Given the description of an element on the screen output the (x, y) to click on. 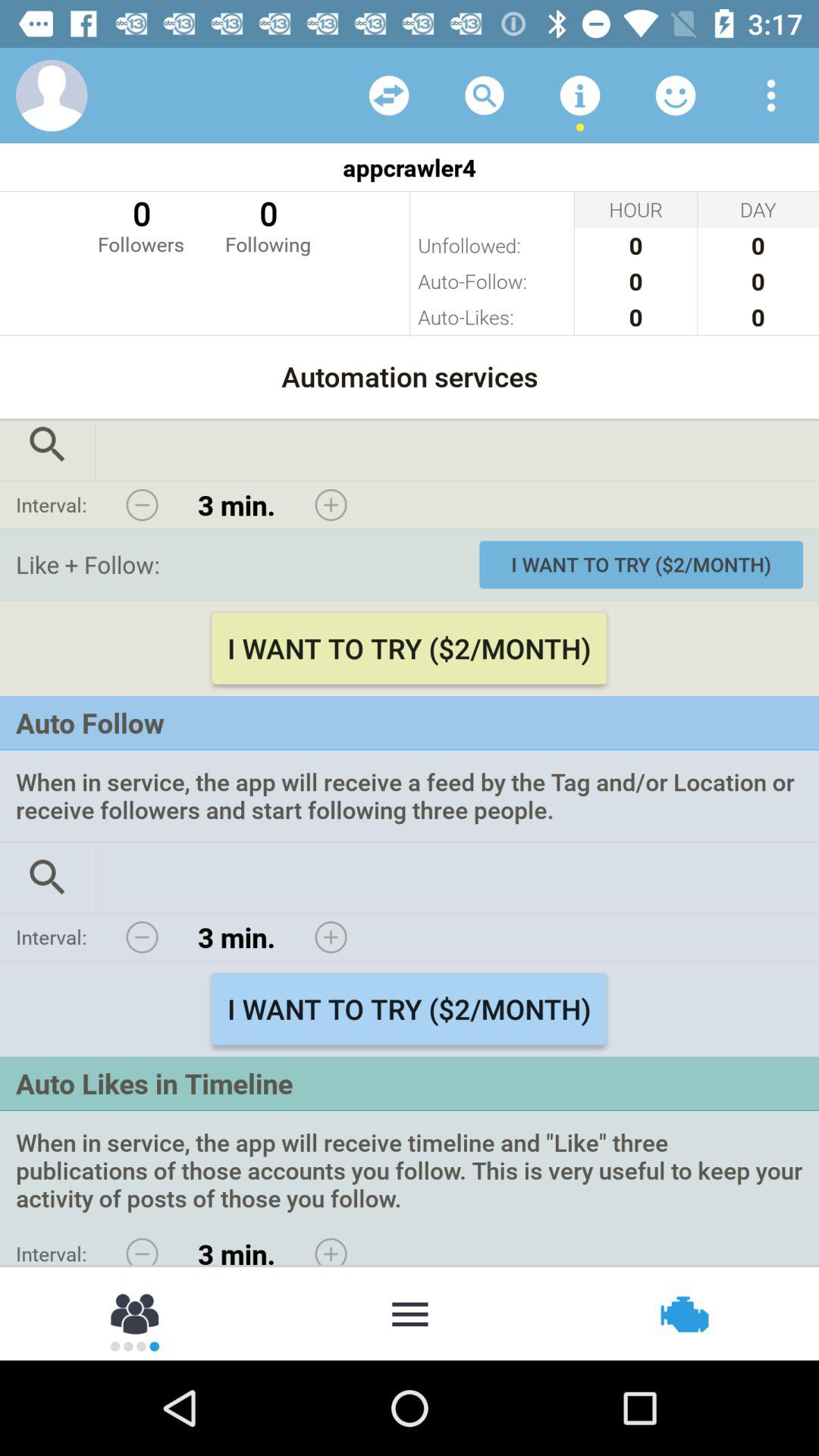
click the icon next to 0
followers (268, 224)
